Given the description of an element on the screen output the (x, y) to click on. 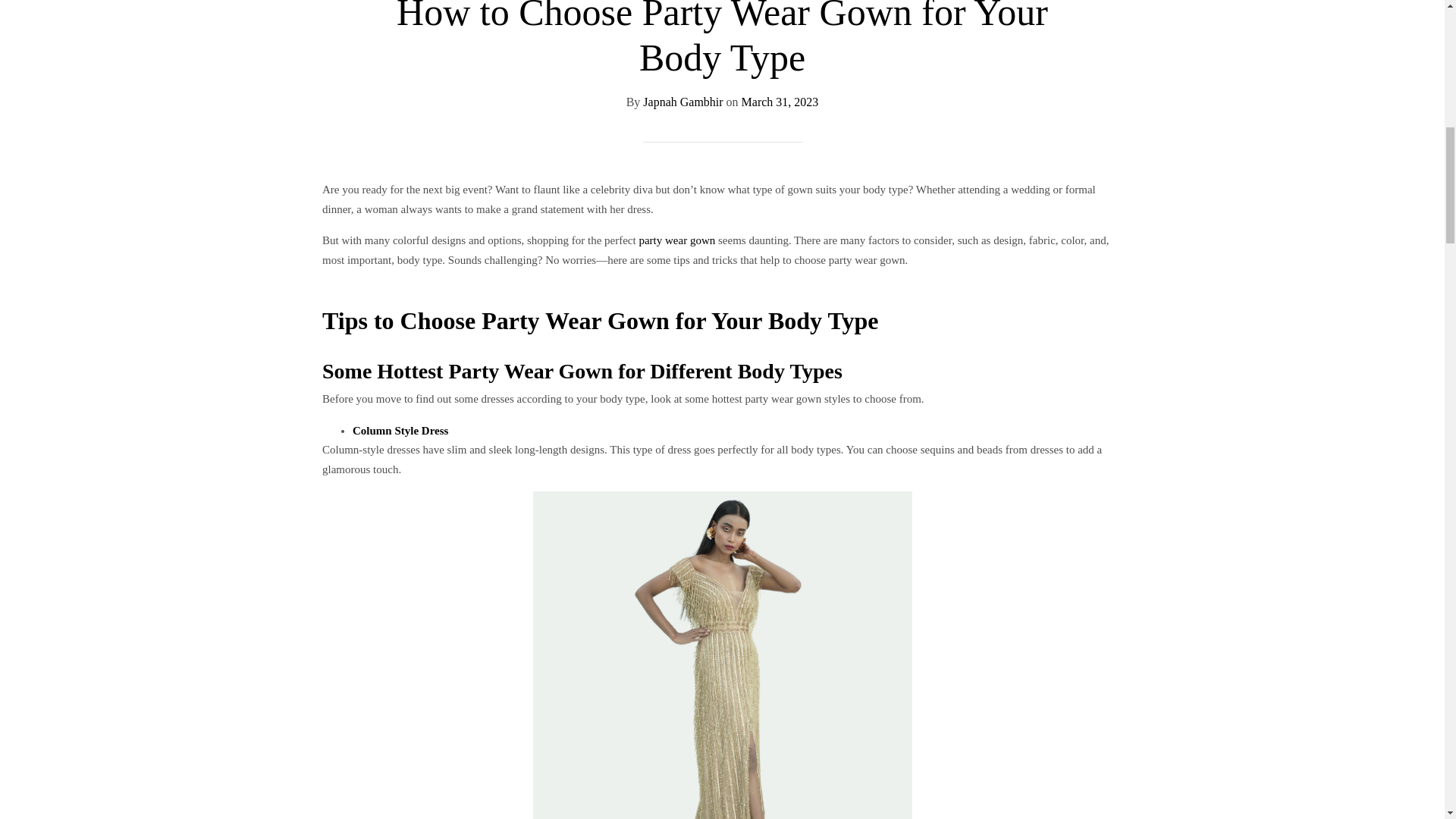
March 31, 2023 (779, 101)
Posts by Japnah Gambhir (682, 101)
Japnah Gambhir (682, 101)
